Given the description of an element on the screen output the (x, y) to click on. 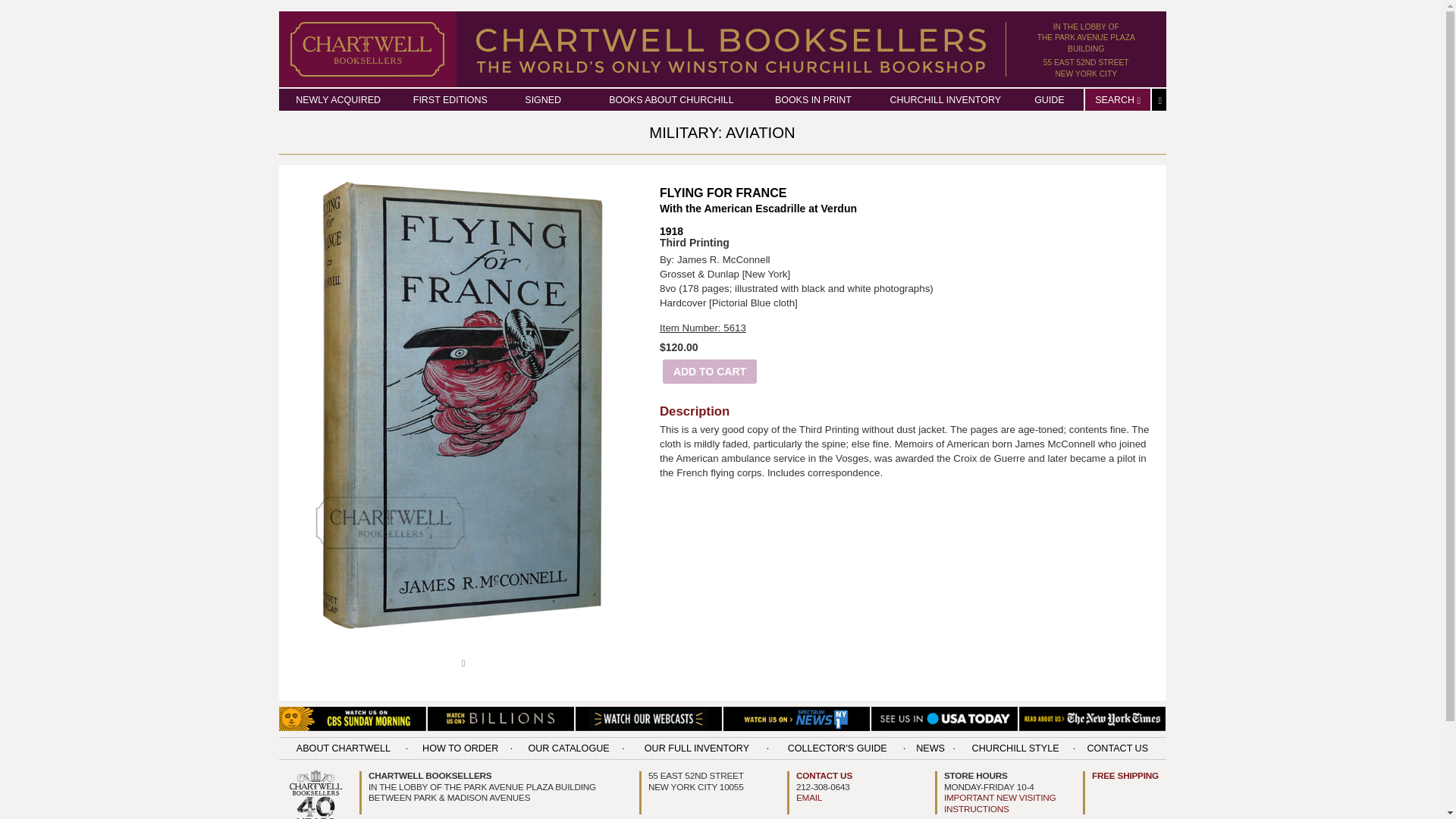
CHURCHILL INVENTORY (944, 100)
ADD TO CART (1085, 37)
NEWLY ACQUIRED (709, 371)
SEARCH (337, 100)
GUIDE (1117, 100)
MILITARY: AVIATION (1048, 100)
BOOKS ABOUT CHURCHILL (721, 132)
FIRST EDITIONS (1086, 67)
